Given the description of an element on the screen output the (x, y) to click on. 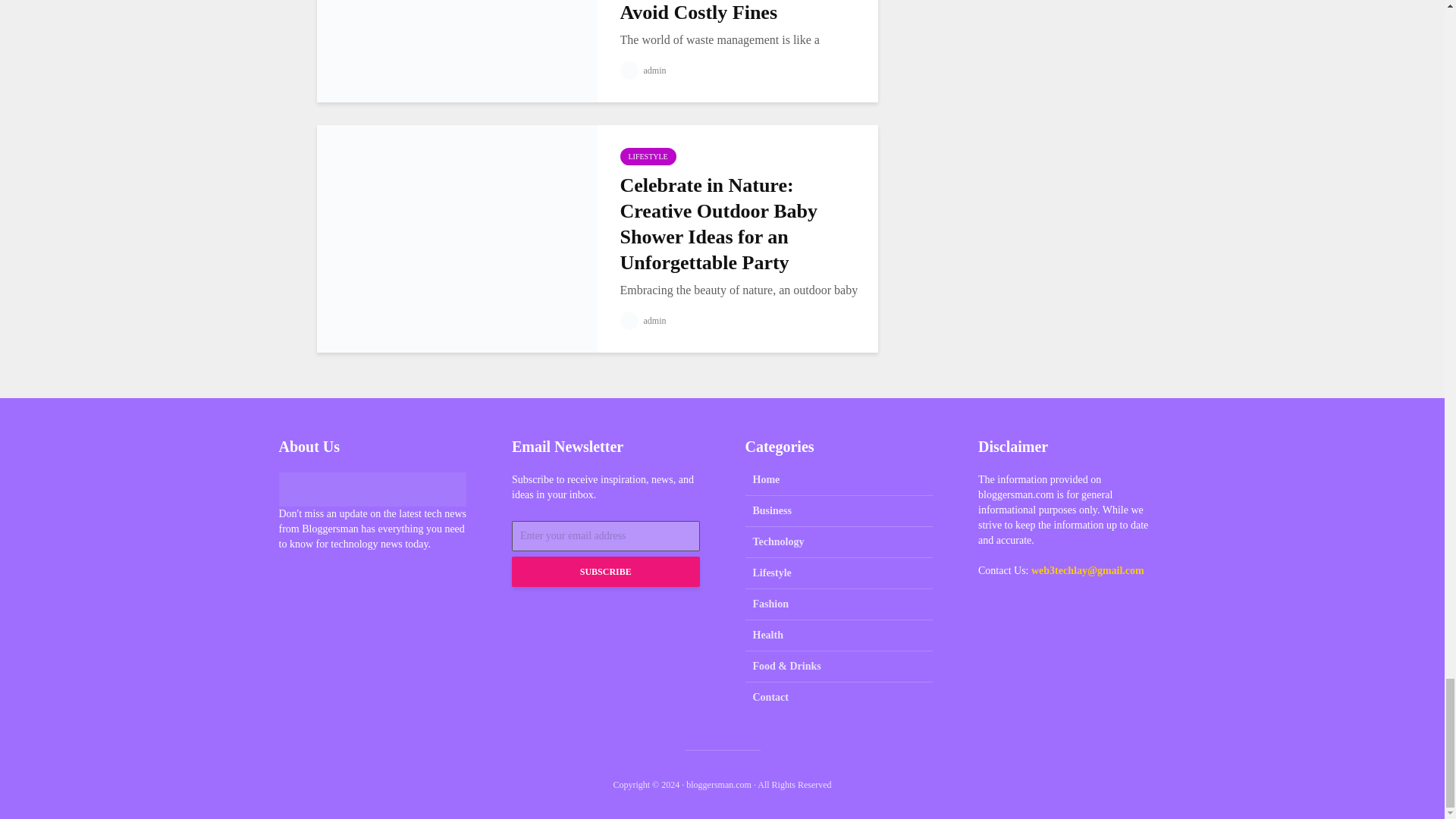
Subscribe (606, 571)
Subscribe (606, 571)
